Given the description of an element on the screen output the (x, y) to click on. 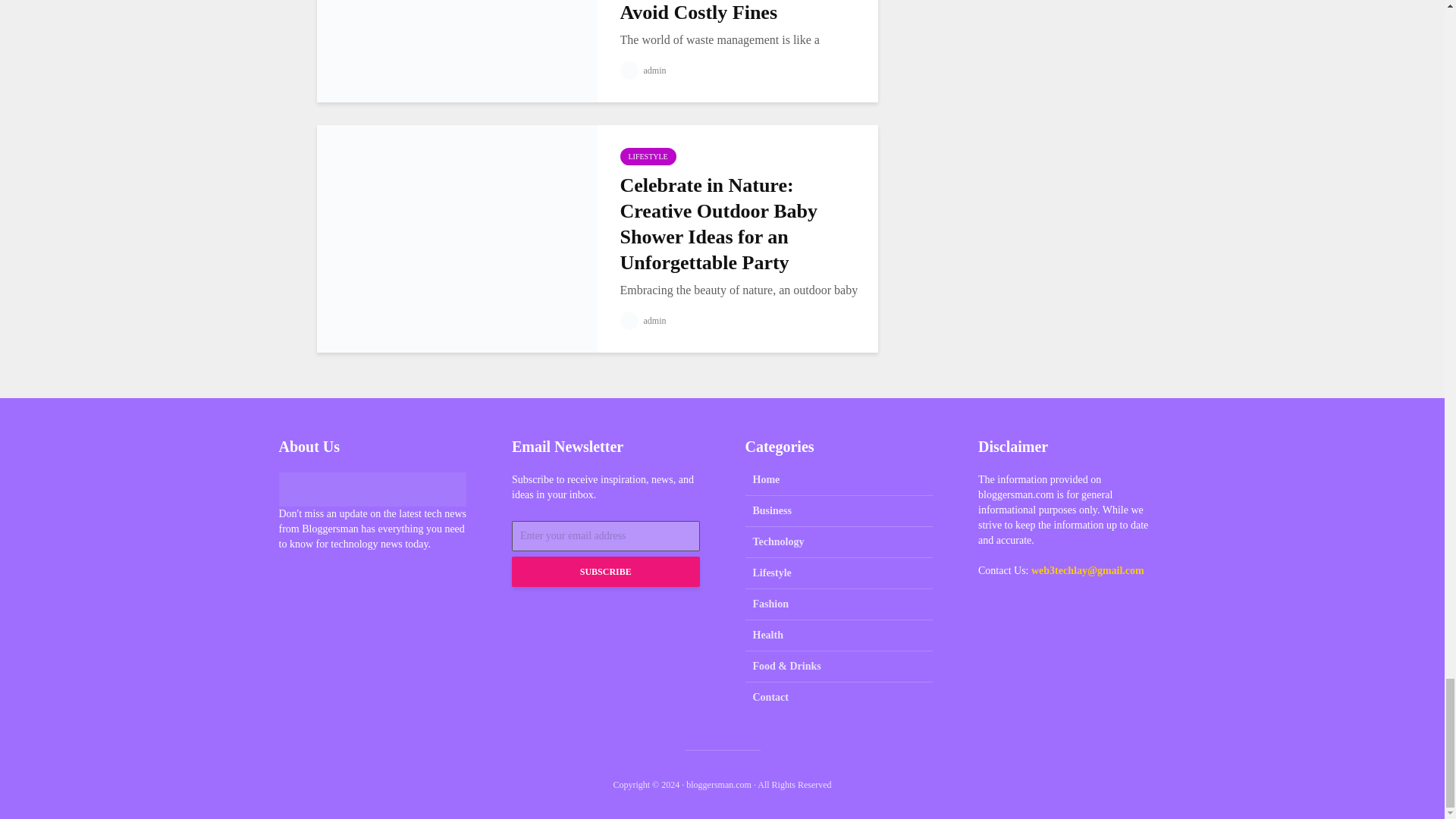
Subscribe (606, 571)
Subscribe (606, 571)
